Given the description of an element on the screen output the (x, y) to click on. 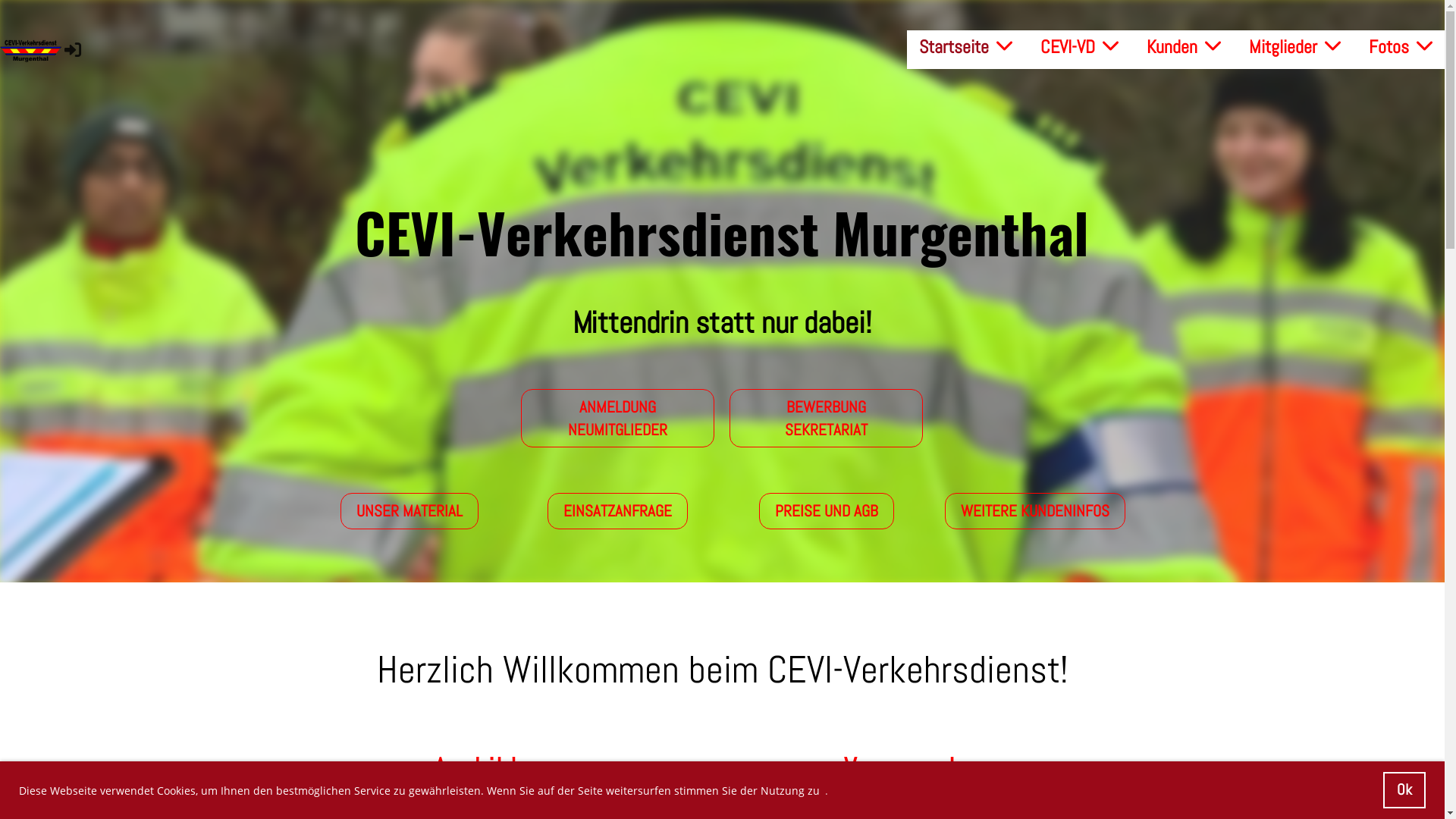
UNSER MATERIAL Element type: text (409, 510)
PREISE UND AGB Element type: text (826, 510)
WEITERE KUNDENINFOS Element type: text (1034, 510)
Fotos Element type: text (1400, 46)
Ok Element type: text (1404, 789)
Kunden Element type: text (1183, 46)
ANMELDUNG NEUMITGLIEDER Element type: text (617, 418)
. Element type: text (826, 790)
EINSATZANFRAGE Element type: text (617, 510)
Mitglieder Element type: text (1294, 46)
BEWERBUNG SEKRETARIAT Element type: text (825, 418)
Startseite Element type: text (965, 46)
CEVI-VD Element type: text (1079, 46)
